Given the description of an element on the screen output the (x, y) to click on. 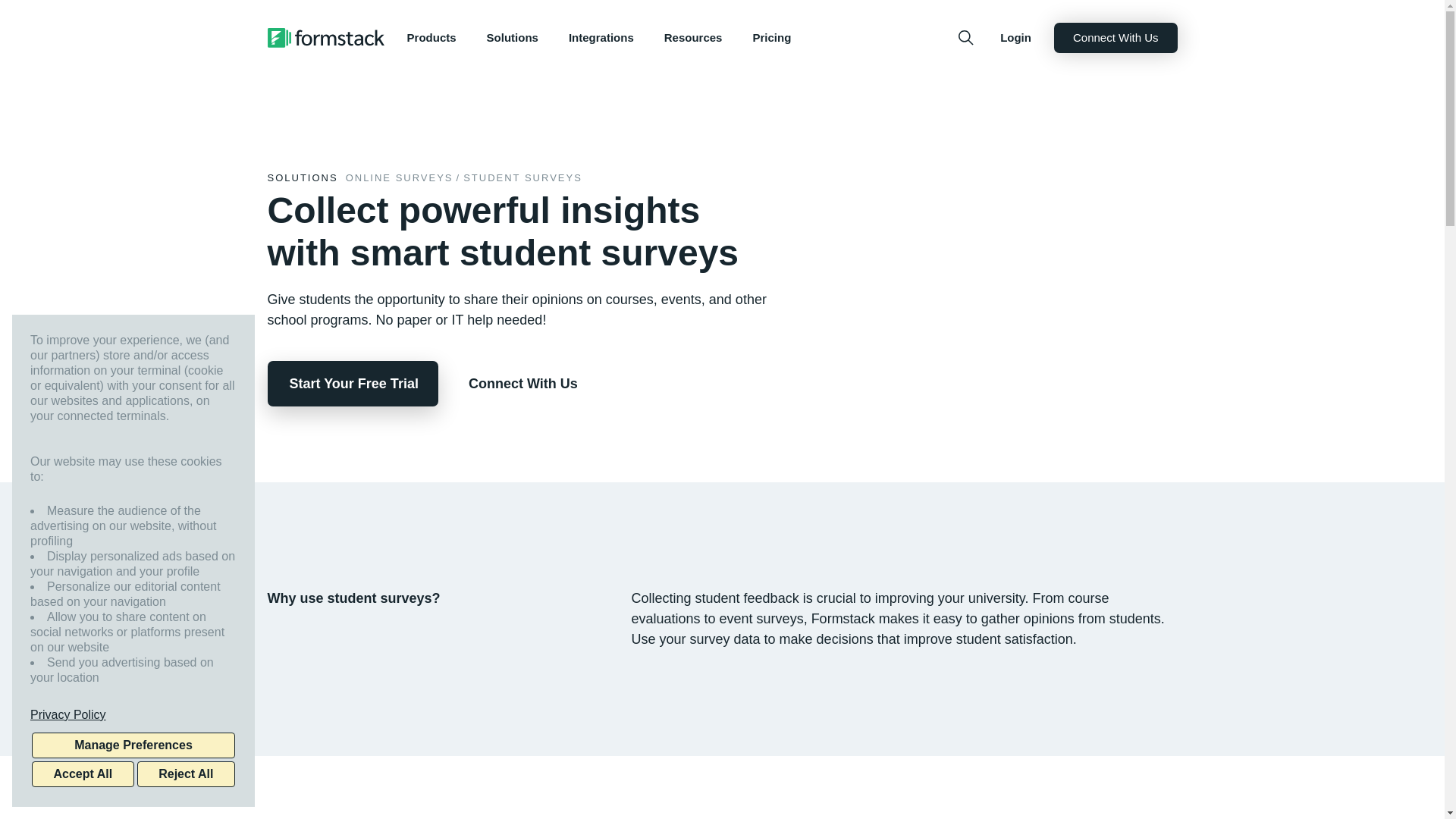
Manage Preferences (133, 745)
Products (431, 37)
Reject All (185, 774)
Accept All (82, 774)
Privacy Policy (132, 714)
Solutions (512, 37)
